Given the description of an element on the screen output the (x, y) to click on. 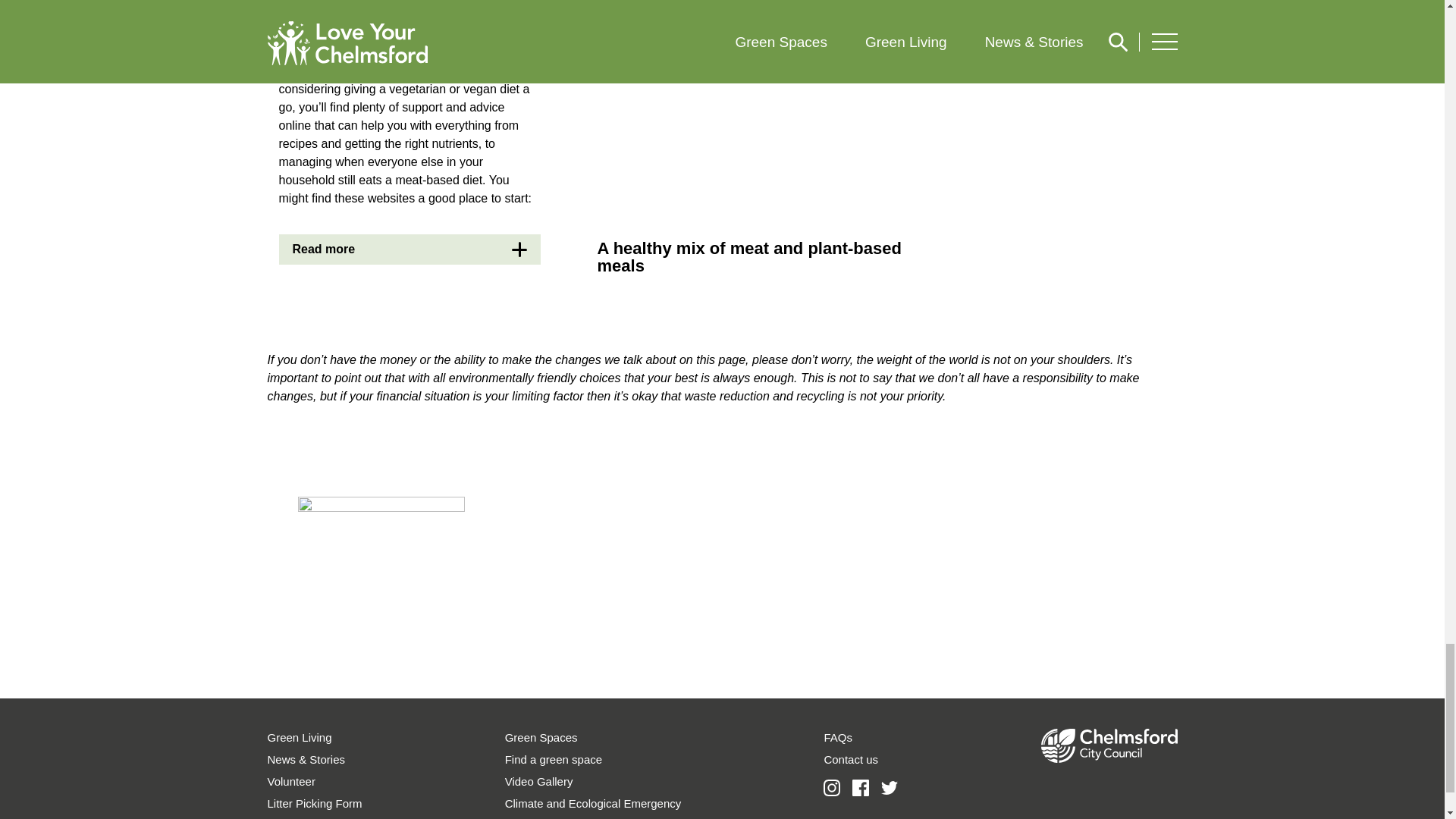
Chelmsford City Council (1108, 758)
